Given the description of an element on the screen output the (x, y) to click on. 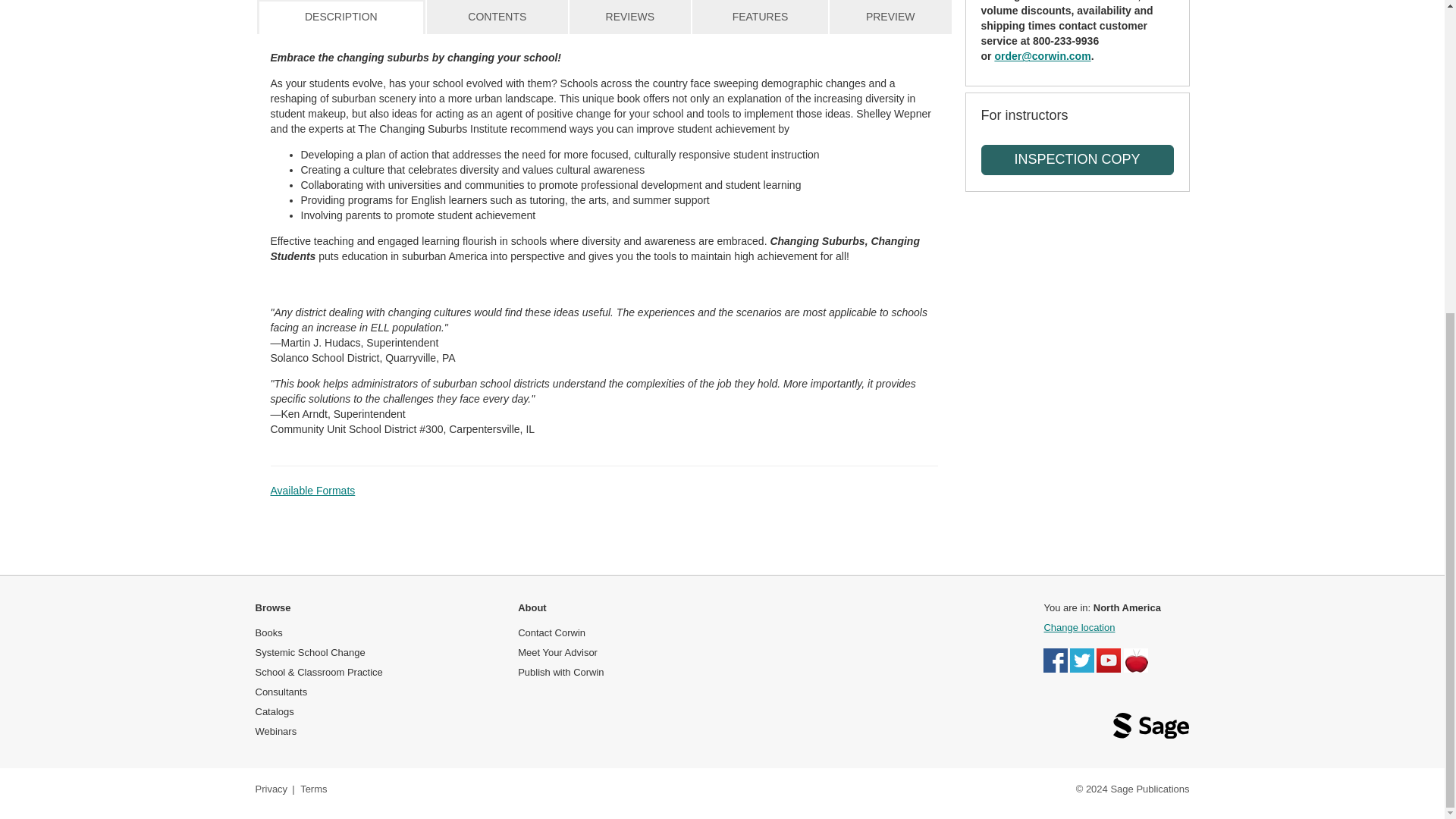
Inspection Copy (1077, 159)
